Given the description of an element on the screen output the (x, y) to click on. 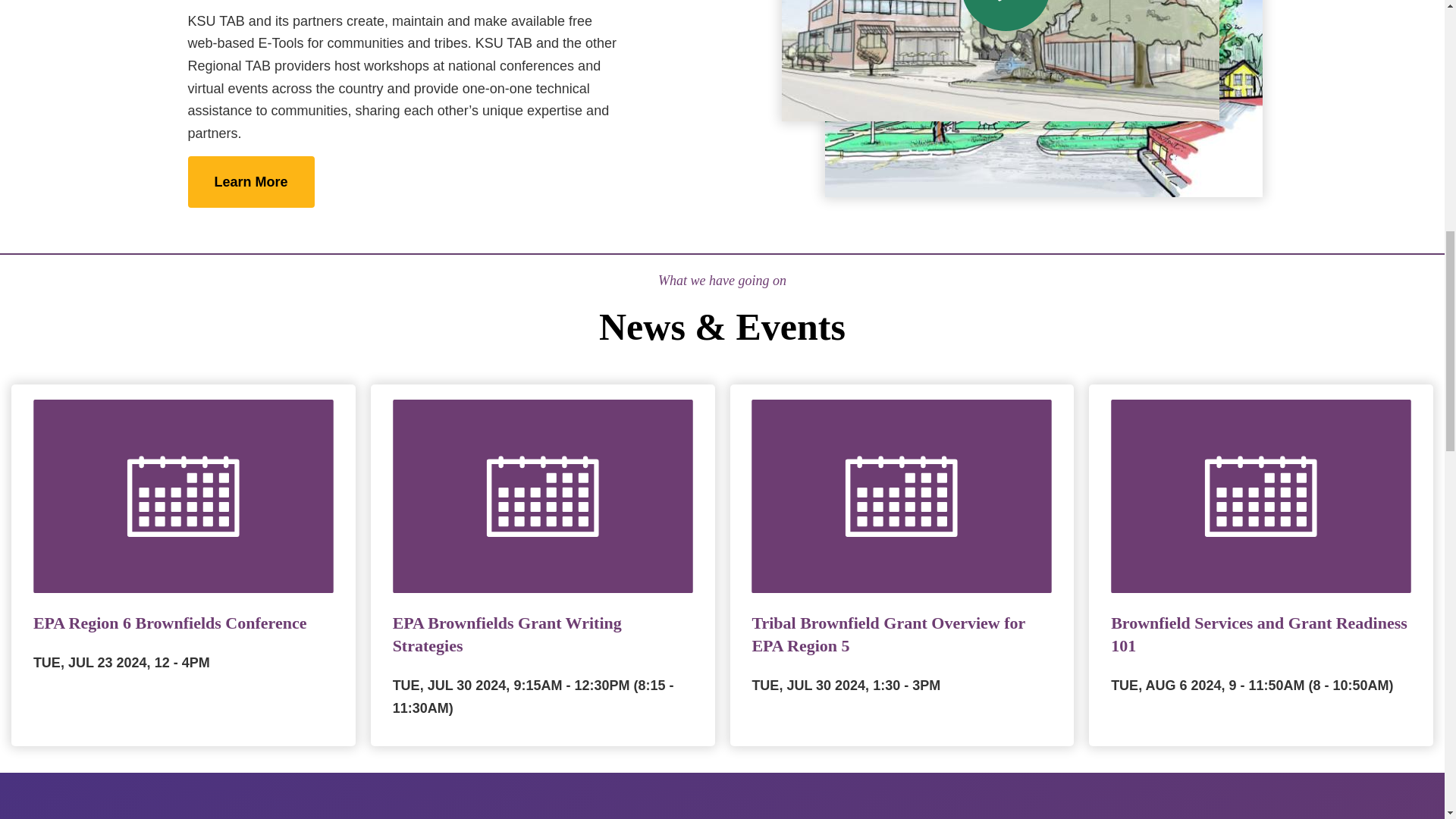
Brownfield Services and Grant Readiness 101 (1258, 634)
EPA Region 6 Brownfields Conference (170, 622)
EPA Brownfields Grant Writing Strategies (507, 634)
Tribal Brownfield Grant Overview for EPA Region 5 (888, 634)
Learn More (250, 182)
